Given the description of an element on the screen output the (x, y) to click on. 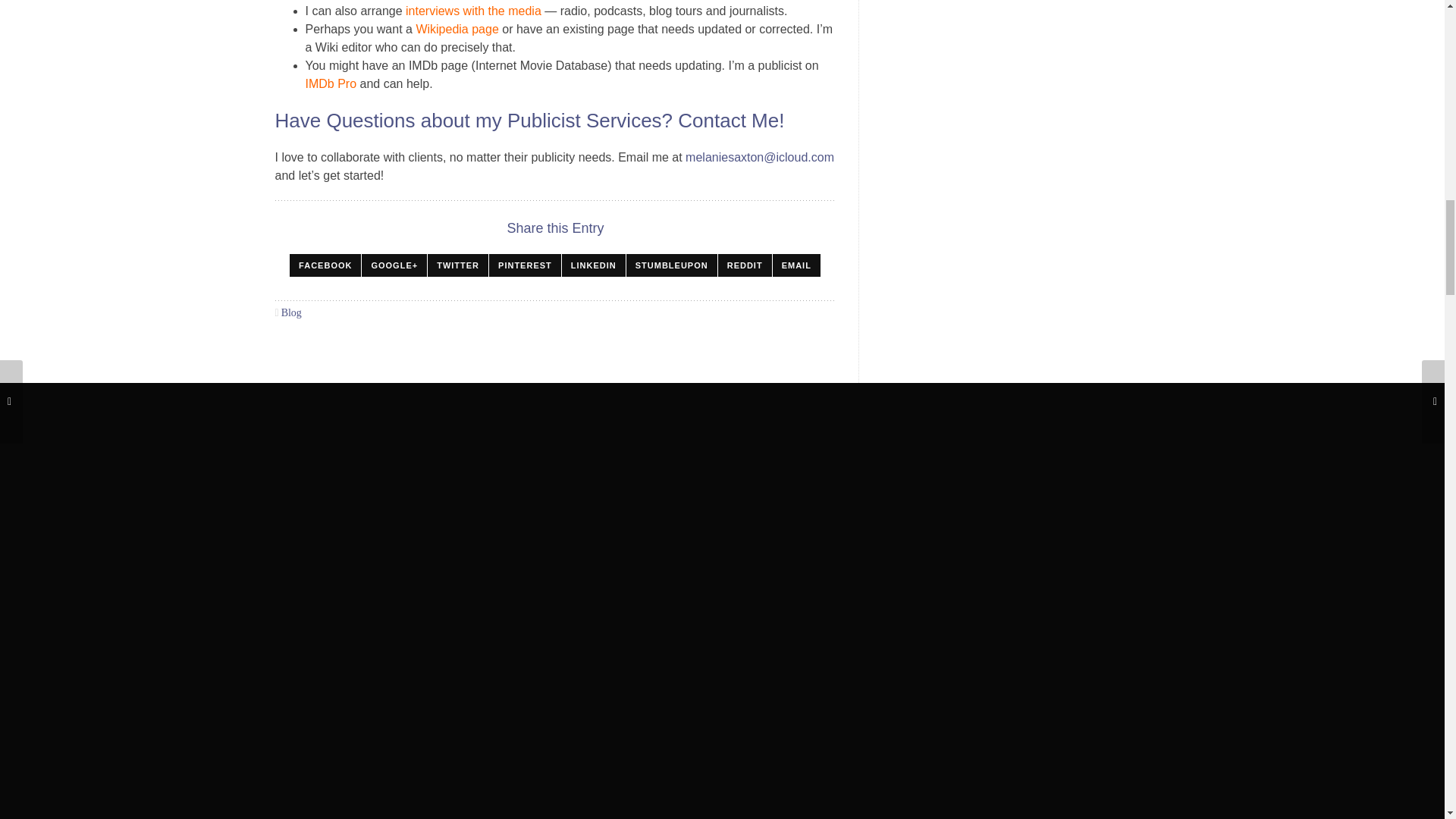
Pin this Entry on Pinterest (524, 264)
Tweet this Entry on Twitter (457, 264)
Share this Entry on Facebook (325, 264)
Share this Entry via Email (797, 264)
Share this Entry on LinkedIn (594, 264)
Stumble this Entry on StumbleUpon (671, 264)
Share this on Reddit (744, 264)
